Given the description of an element on the screen output the (x, y) to click on. 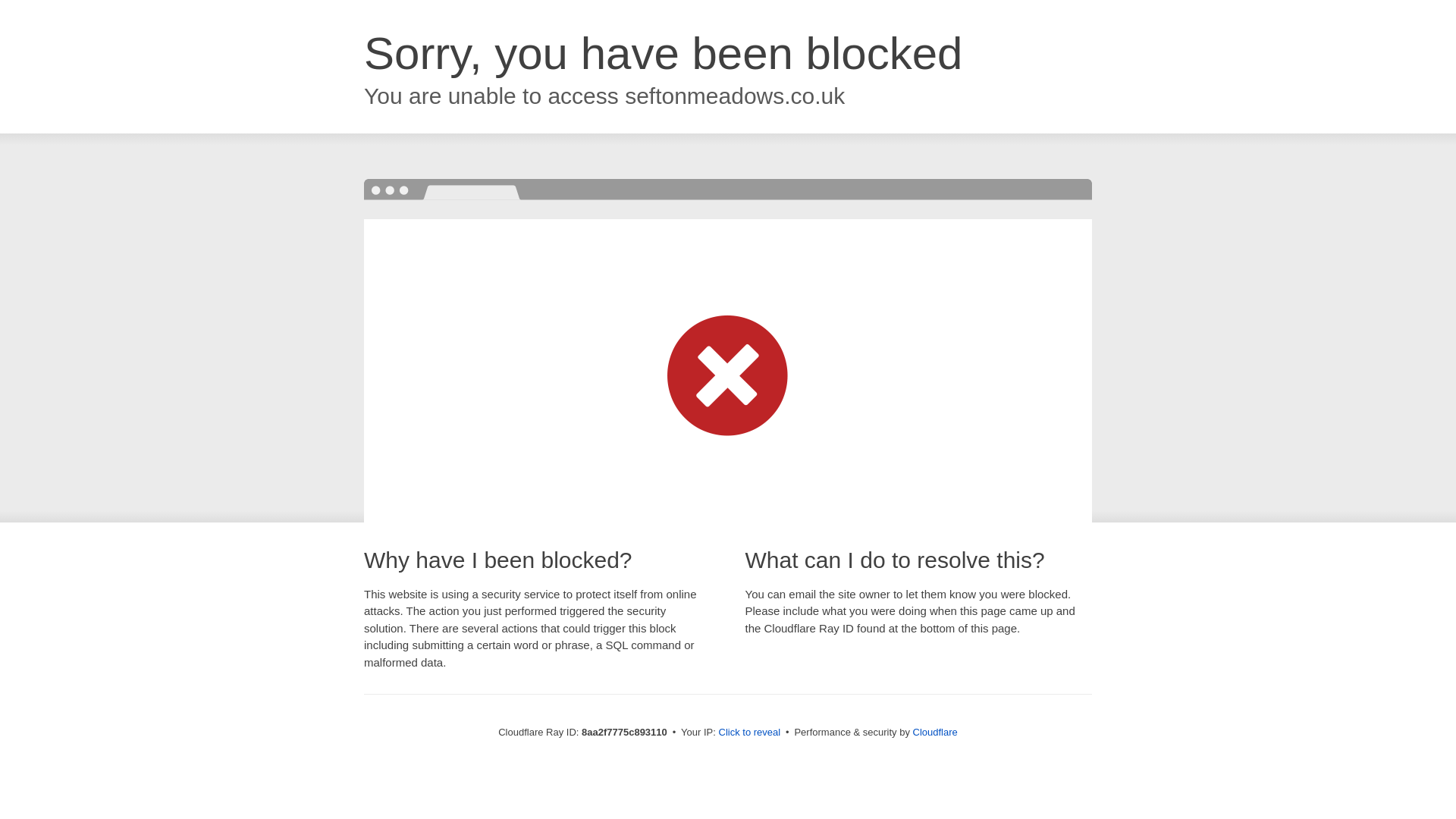
Click to reveal (749, 732)
Cloudflare (935, 731)
